Given the description of an element on the screen output the (x, y) to click on. 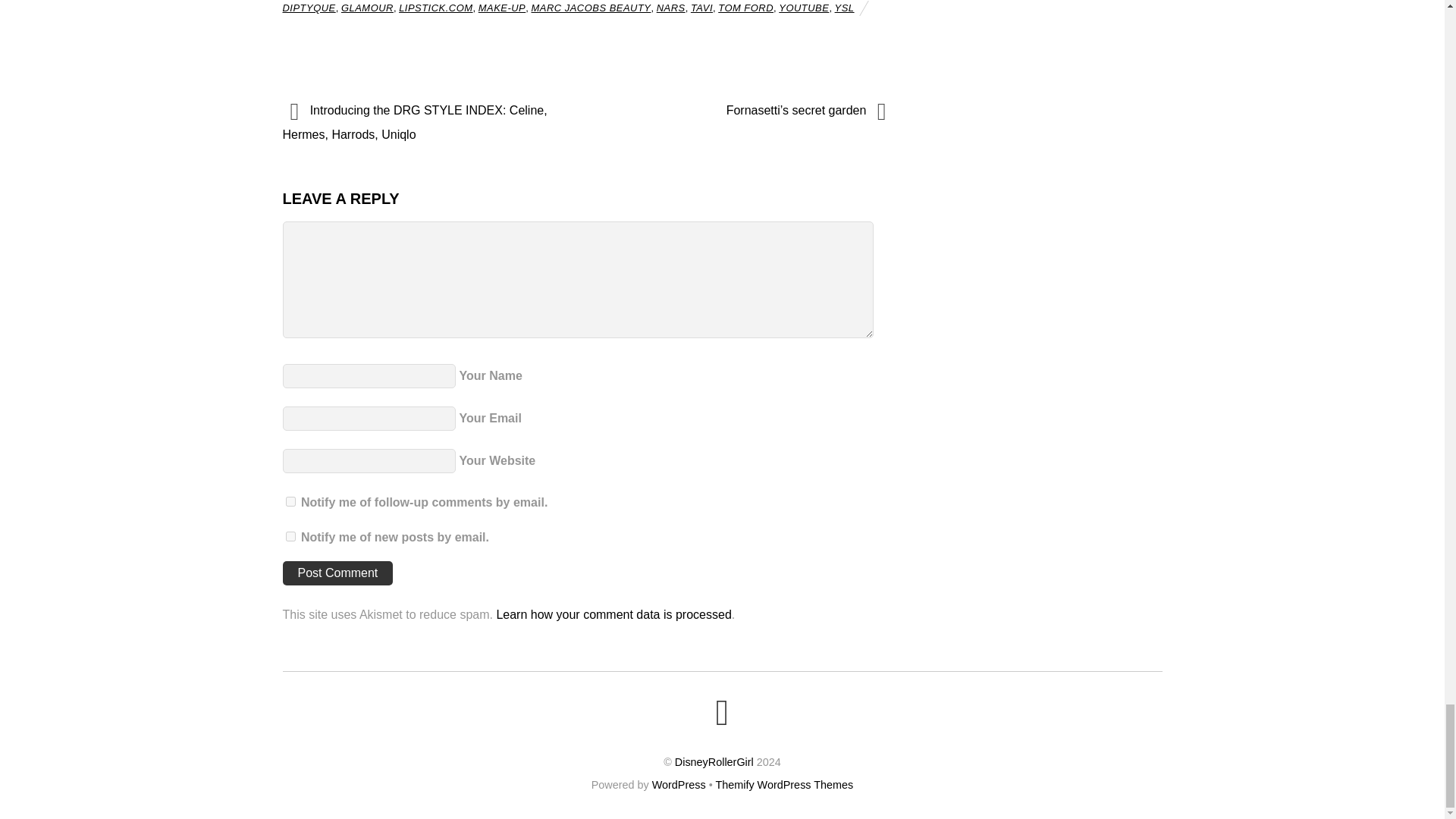
subscribe (290, 536)
subscribe (290, 501)
Post Comment (337, 573)
